Given the description of an element on the screen output the (x, y) to click on. 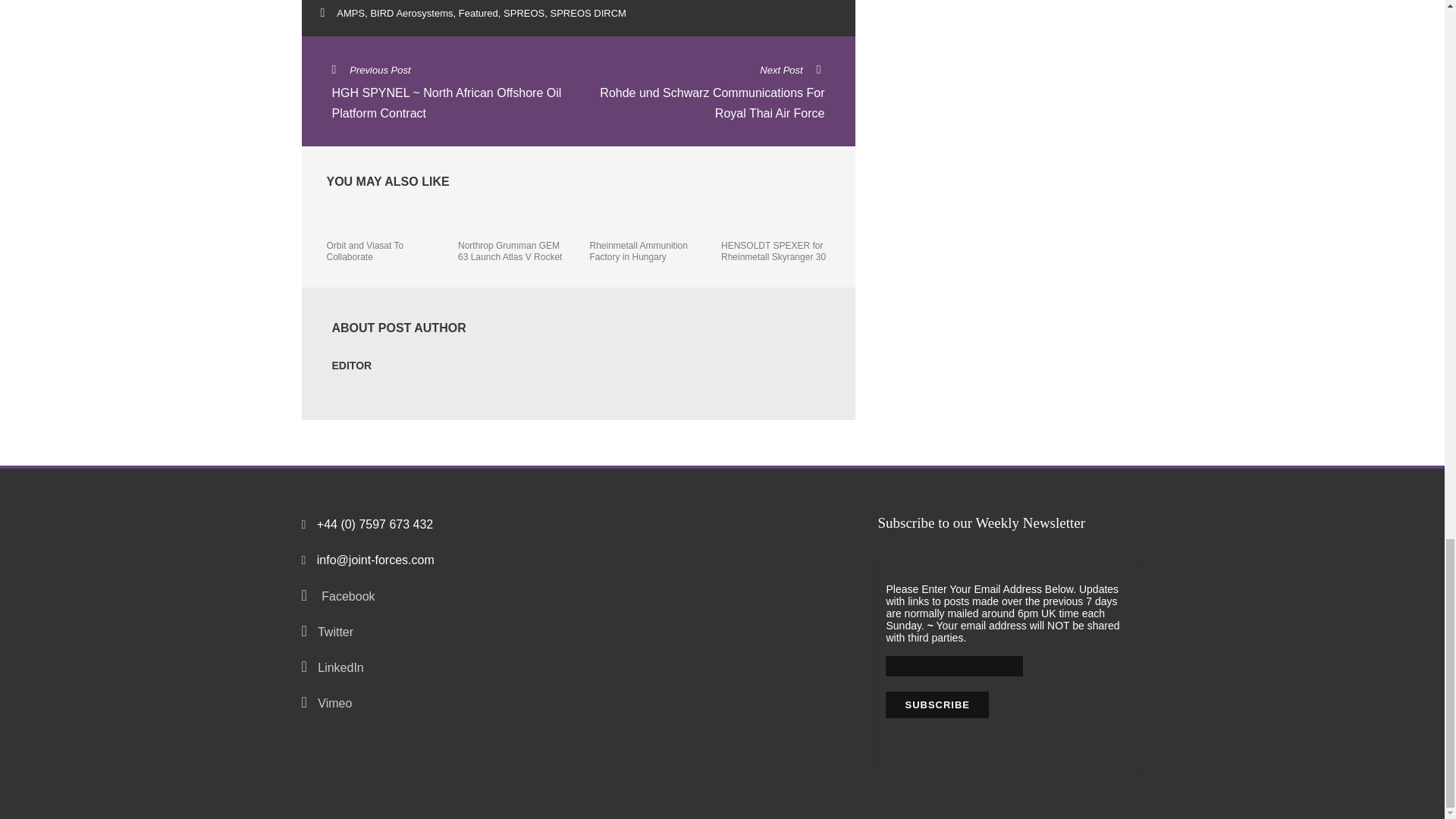
Subscribe (936, 704)
Posts by Editor (351, 365)
